Given the description of an element on the screen output the (x, y) to click on. 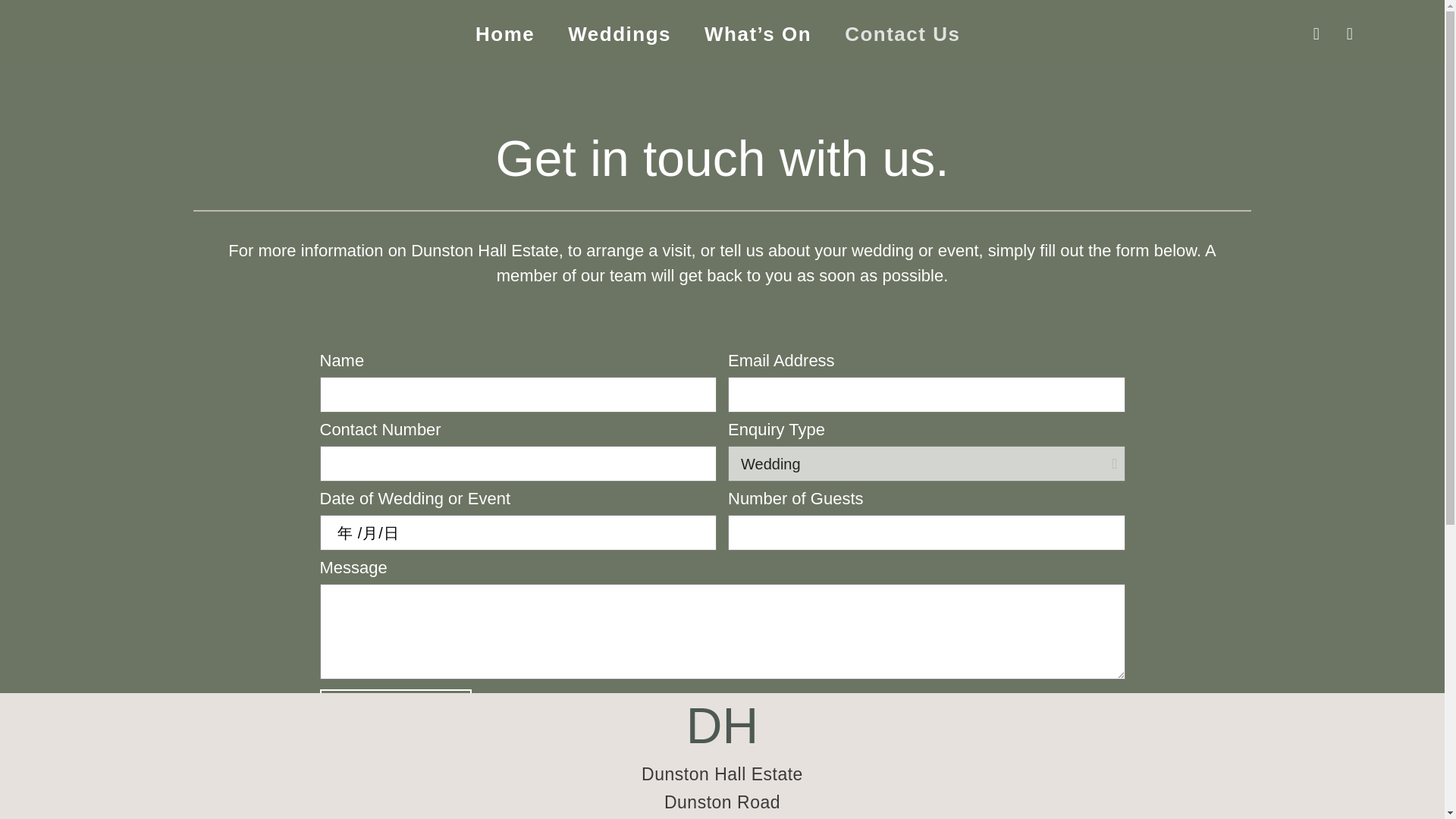
Contact Us (902, 33)
Home (505, 33)
Submit (395, 708)
Weddings (619, 33)
